Given the description of an element on the screen output the (x, y) to click on. 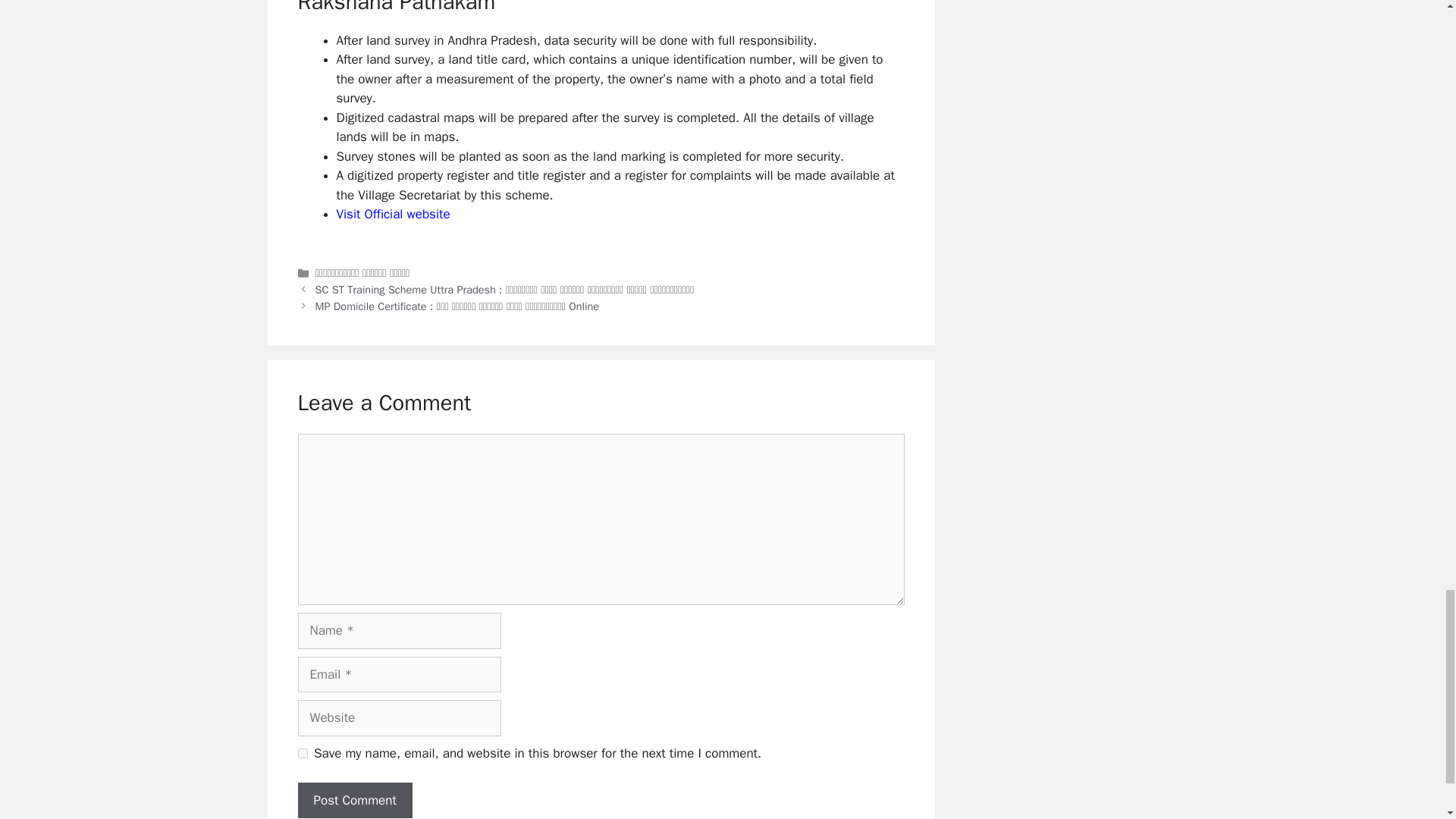
Post Comment (354, 800)
yes (302, 753)
Post Comment (354, 800)
Visit Official website (392, 213)
